Given the description of an element on the screen output the (x, y) to click on. 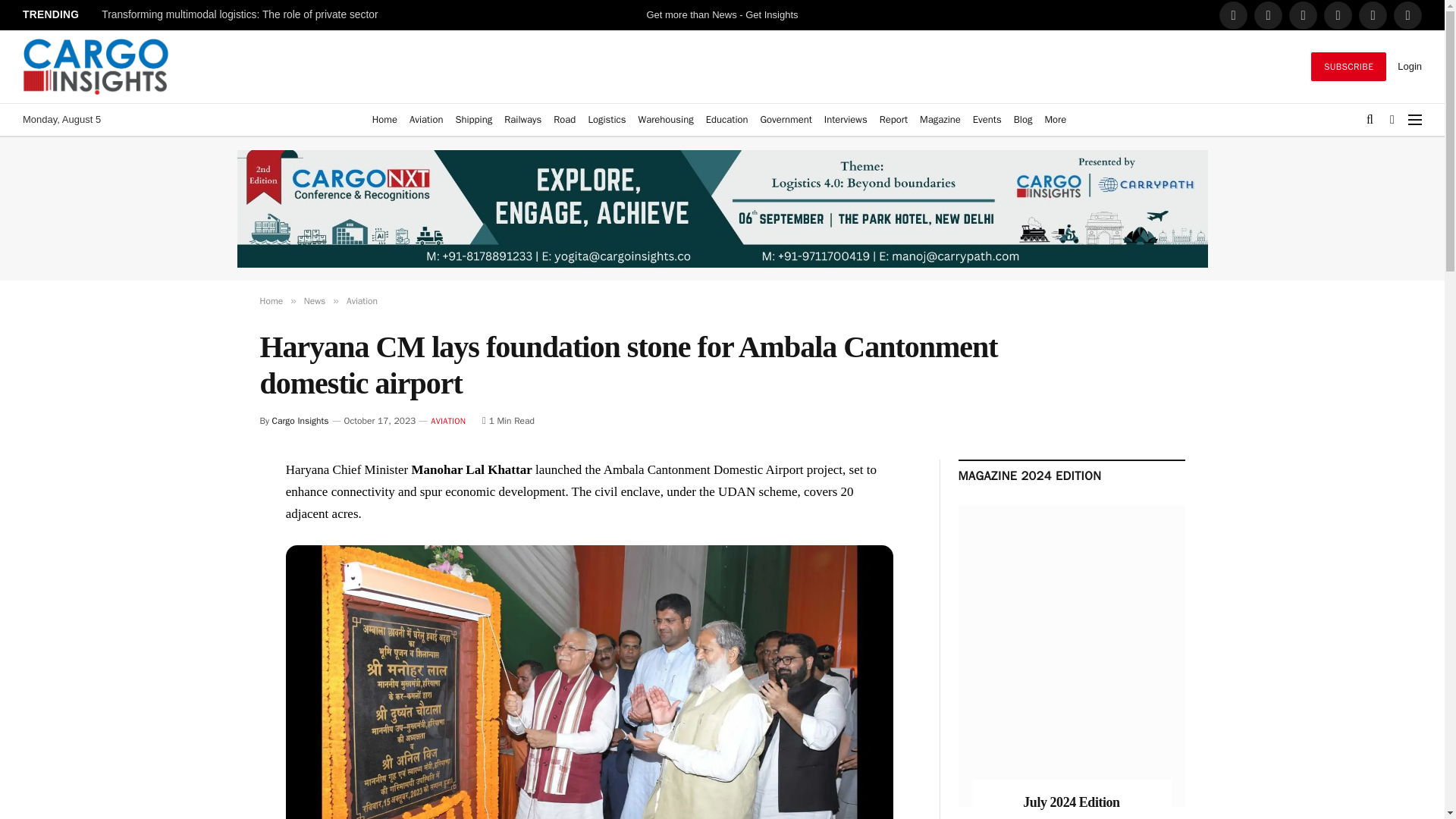
Aviation (425, 119)
Home (384, 119)
Instagram (1337, 15)
Cargo Insights (95, 66)
SUBSCRIBE (1348, 66)
Facebook (1233, 15)
LinkedIn (1302, 15)
Login (1409, 66)
Pinterest (1372, 15)
YouTube (1407, 15)
